Given the description of an element on the screen output the (x, y) to click on. 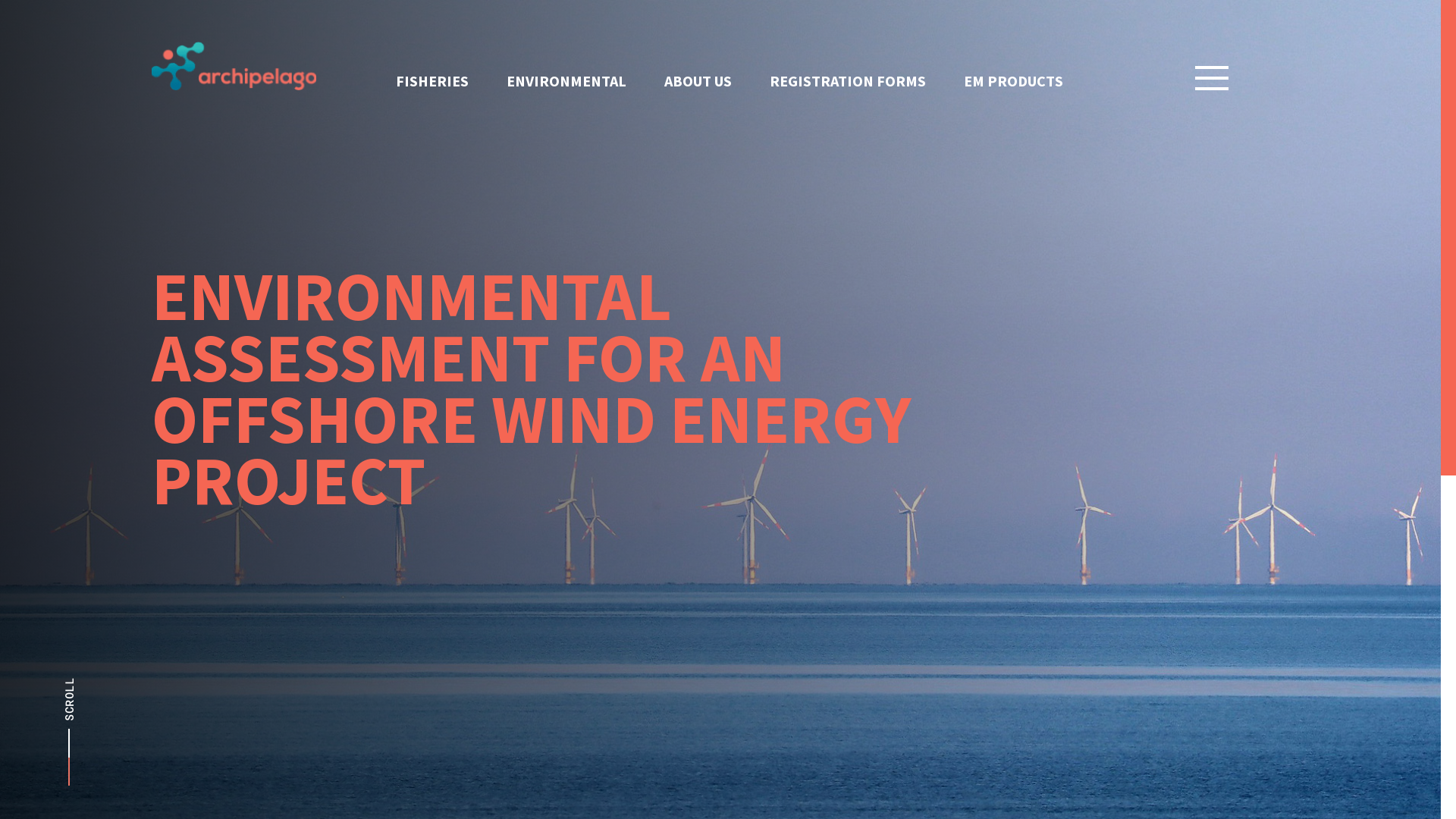
REGISTRATION FORMS Element type: text (847, 80)
ABOUT US Element type: text (697, 80)
EM PRODUCTS Element type: text (1013, 80)
FISHERIES Element type: text (431, 80)
ENVIRONMENTAL Element type: text (566, 80)
SCROLL Element type: text (115, 684)
